Given the description of an element on the screen output the (x, y) to click on. 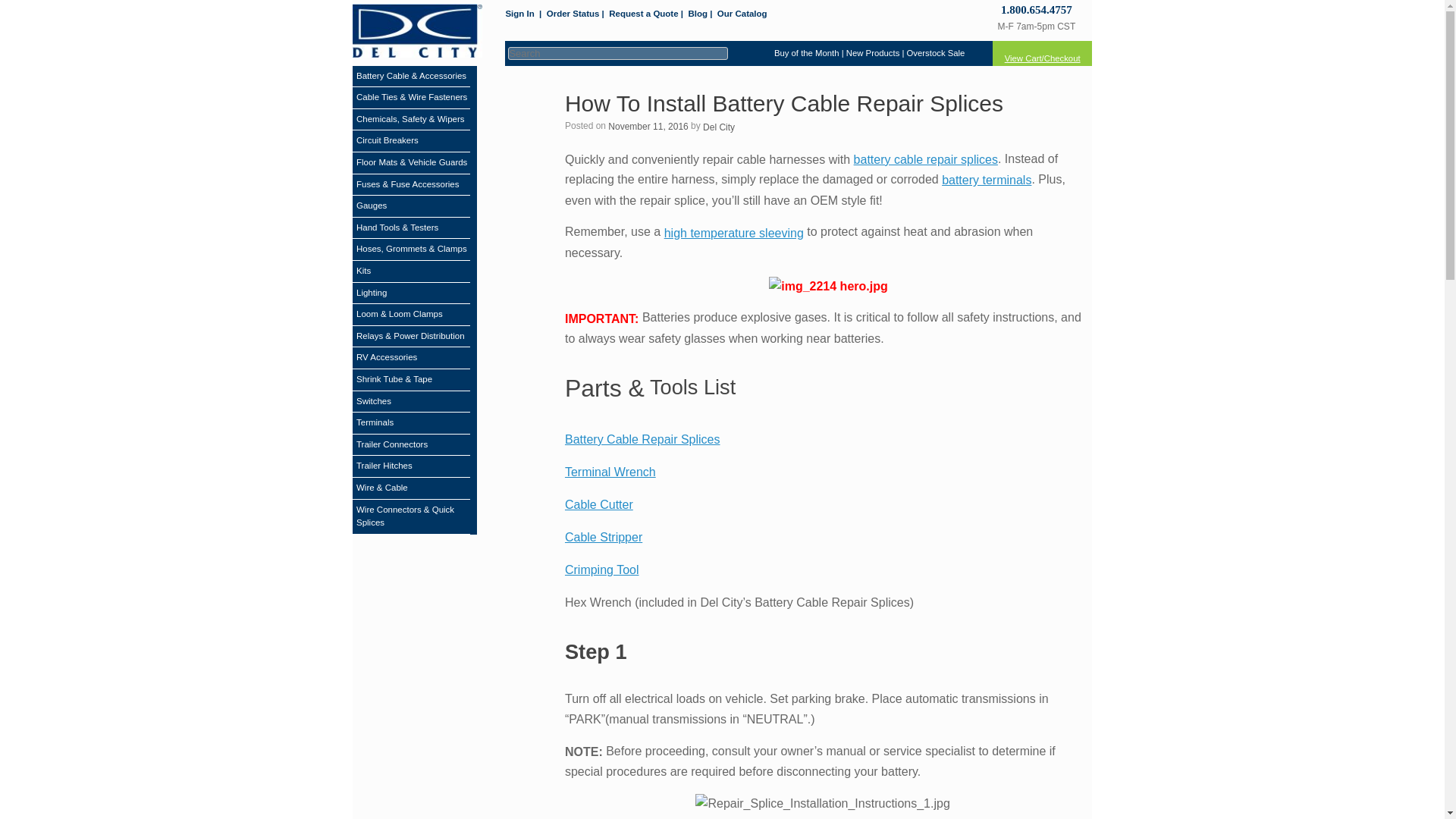
Order Status (573, 13)
battery cable repair splices (925, 159)
Battery Cable Repair Splices (642, 439)
Overstock Sale (936, 51)
Cable Stripper (603, 536)
Our Catalog (742, 13)
Cable Cutter (598, 504)
Circuit Breakers (387, 140)
10:45 am (647, 126)
view shopping cart (1042, 52)
sign in (519, 13)
high temperature sleeving (733, 232)
Blog (697, 13)
Request a Quote (643, 13)
View all posts by Del City (719, 127)
